Given the description of an element on the screen output the (x, y) to click on. 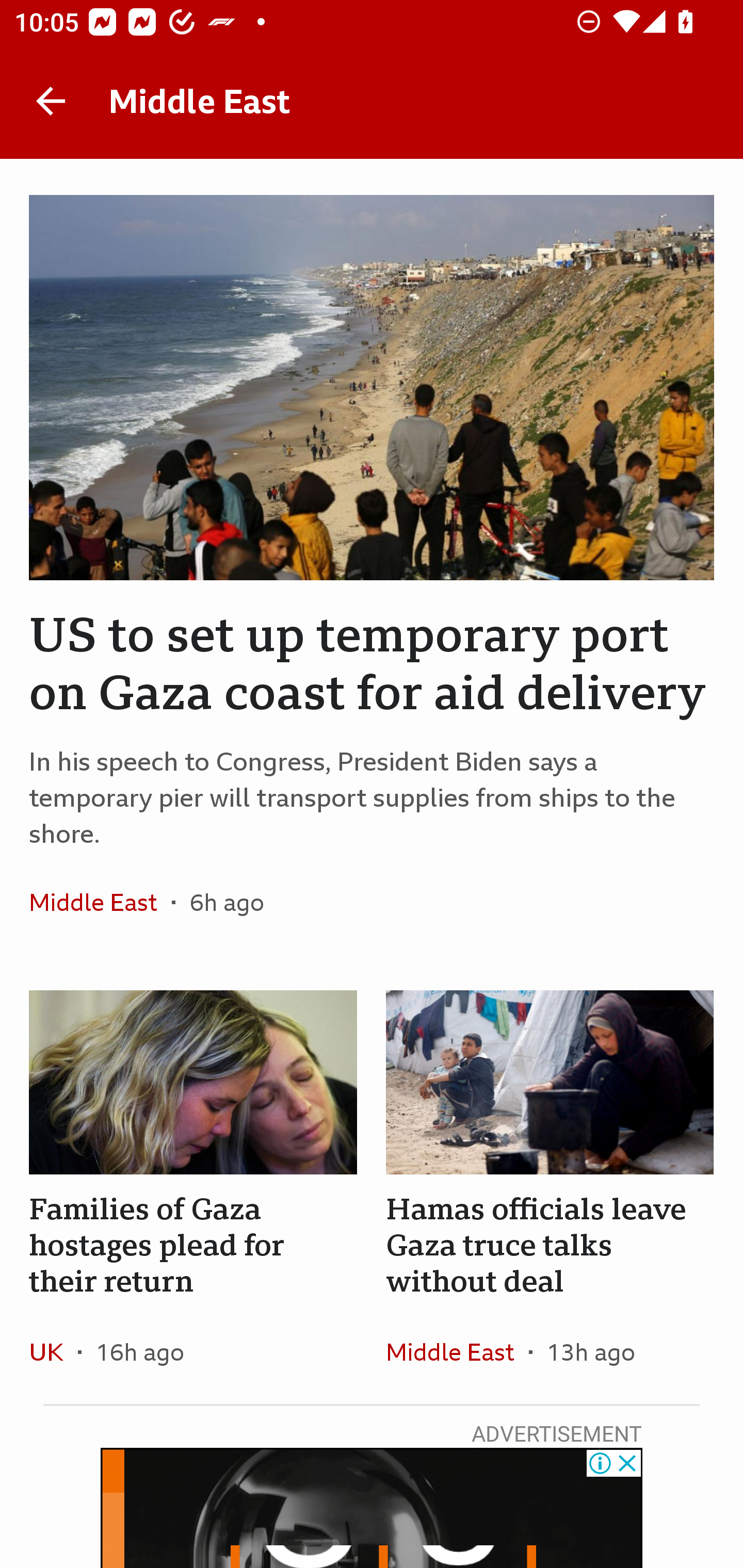
Back (50, 101)
Middle East In the section Middle East (99, 901)
UK In the section UK (53, 1351)
Middle East In the section Middle East (457, 1351)
